Given the description of an element on the screen output the (x, y) to click on. 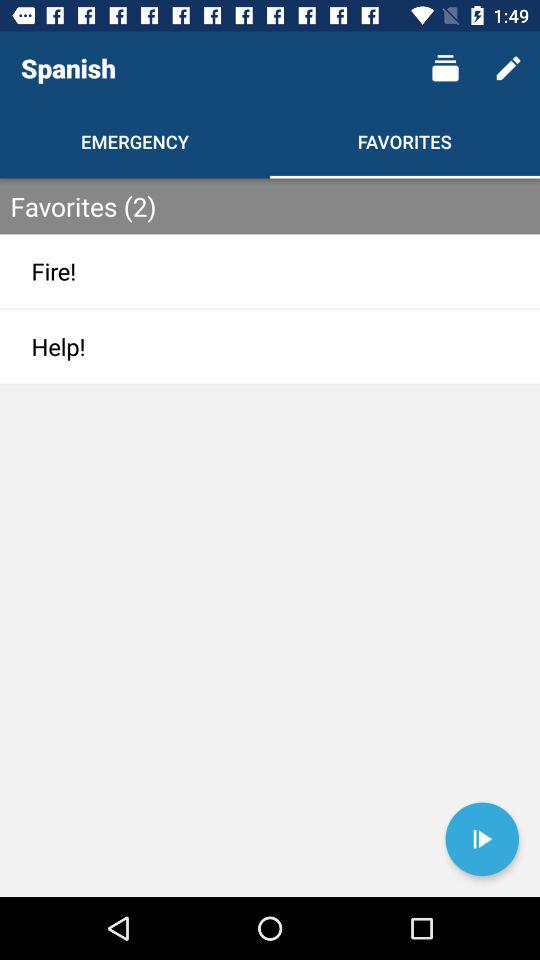
select item next to spanish item (444, 67)
